Given the description of an element on the screen output the (x, y) to click on. 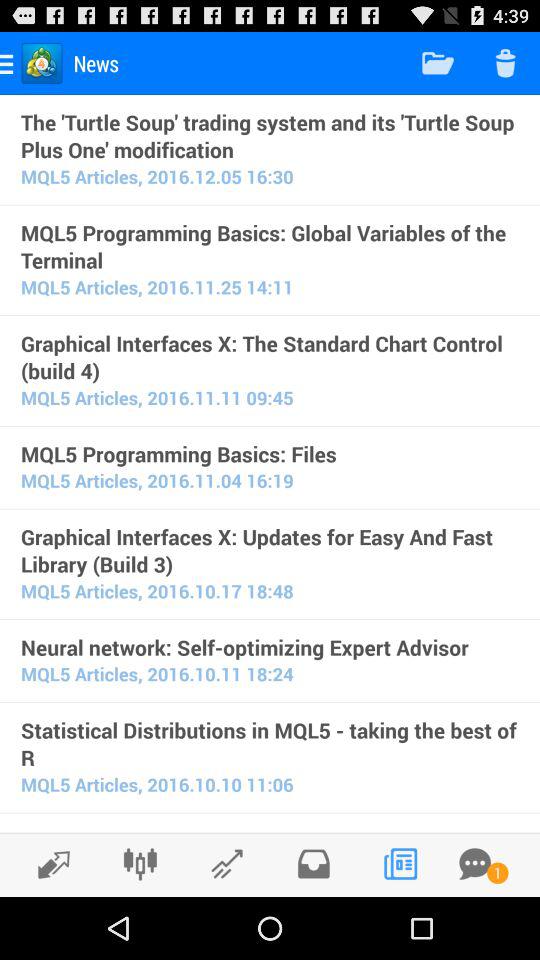
swipe to the statistical distributions in (270, 743)
